Given the description of an element on the screen output the (x, y) to click on. 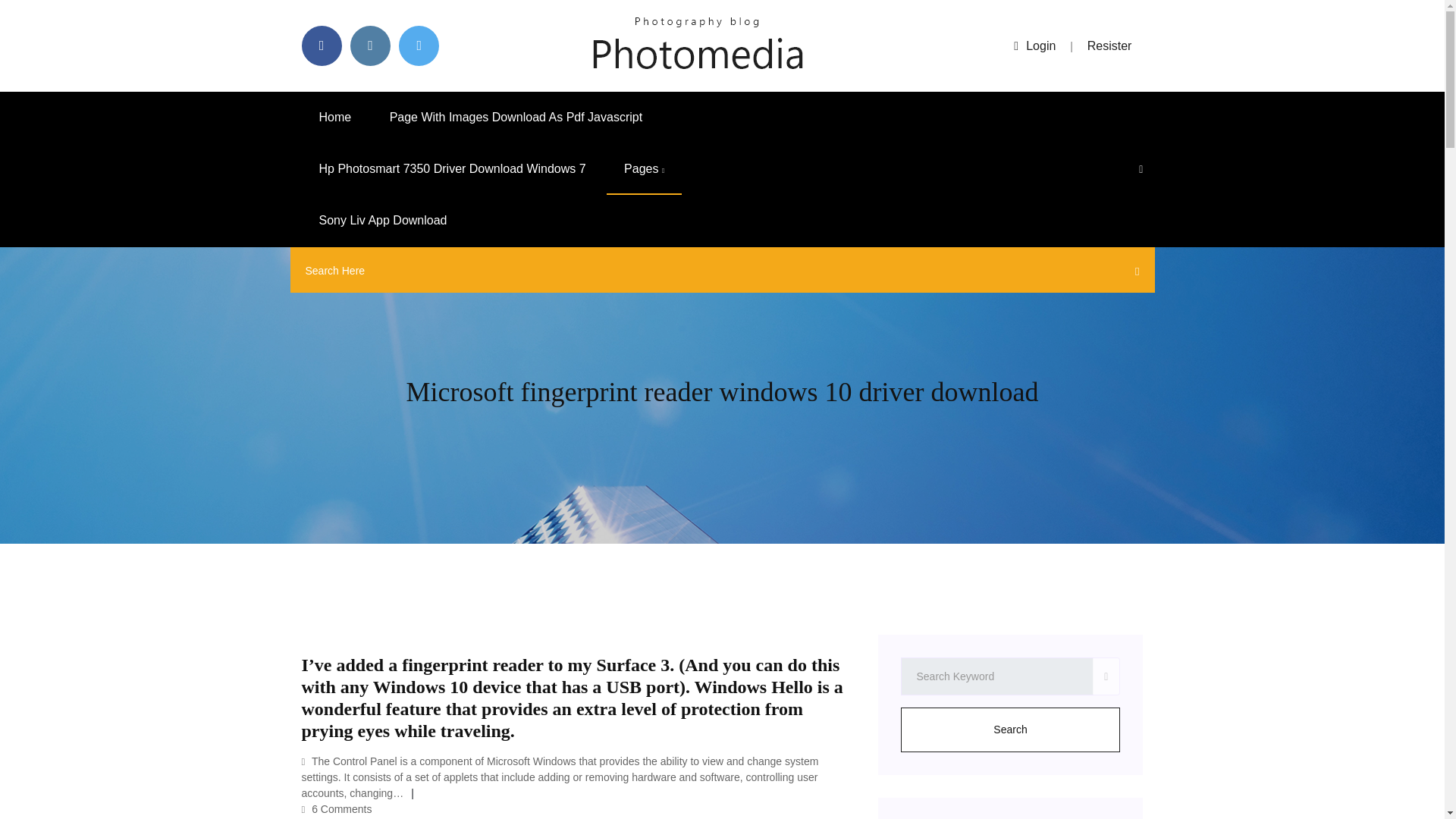
Login (1034, 45)
Pages (644, 168)
Resister (1109, 45)
Page With Images Download As Pdf Javascript (516, 117)
Home (335, 117)
6 Comments (336, 808)
Sony Liv App Download (382, 220)
Hp Photosmart 7350 Driver Download Windows 7 (452, 168)
